Given the description of an element on the screen output the (x, y) to click on. 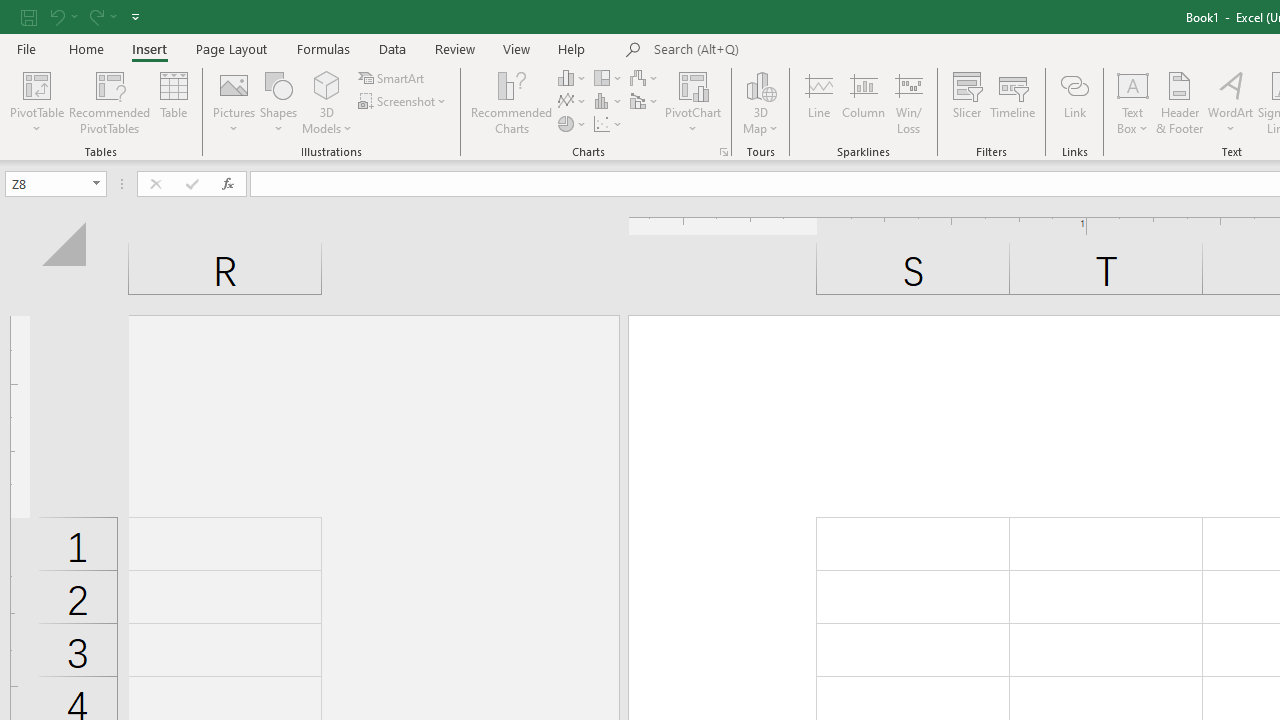
Insert Combo Chart (645, 101)
Draw Horizontal Text Box (1133, 84)
Recommended PivotTables (109, 102)
Insert Column or Bar Chart (573, 78)
Text Box (1133, 102)
Shapes (278, 102)
PivotChart (693, 102)
Line (818, 102)
Timeline (1013, 102)
